Given the description of an element on the screen output the (x, y) to click on. 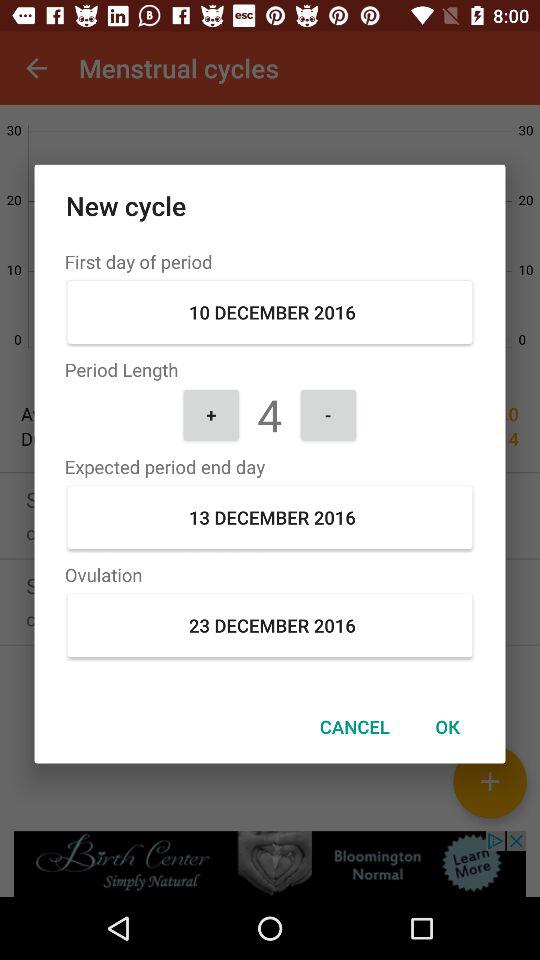
turn on icon next to 4 (328, 414)
